Given the description of an element on the screen output the (x, y) to click on. 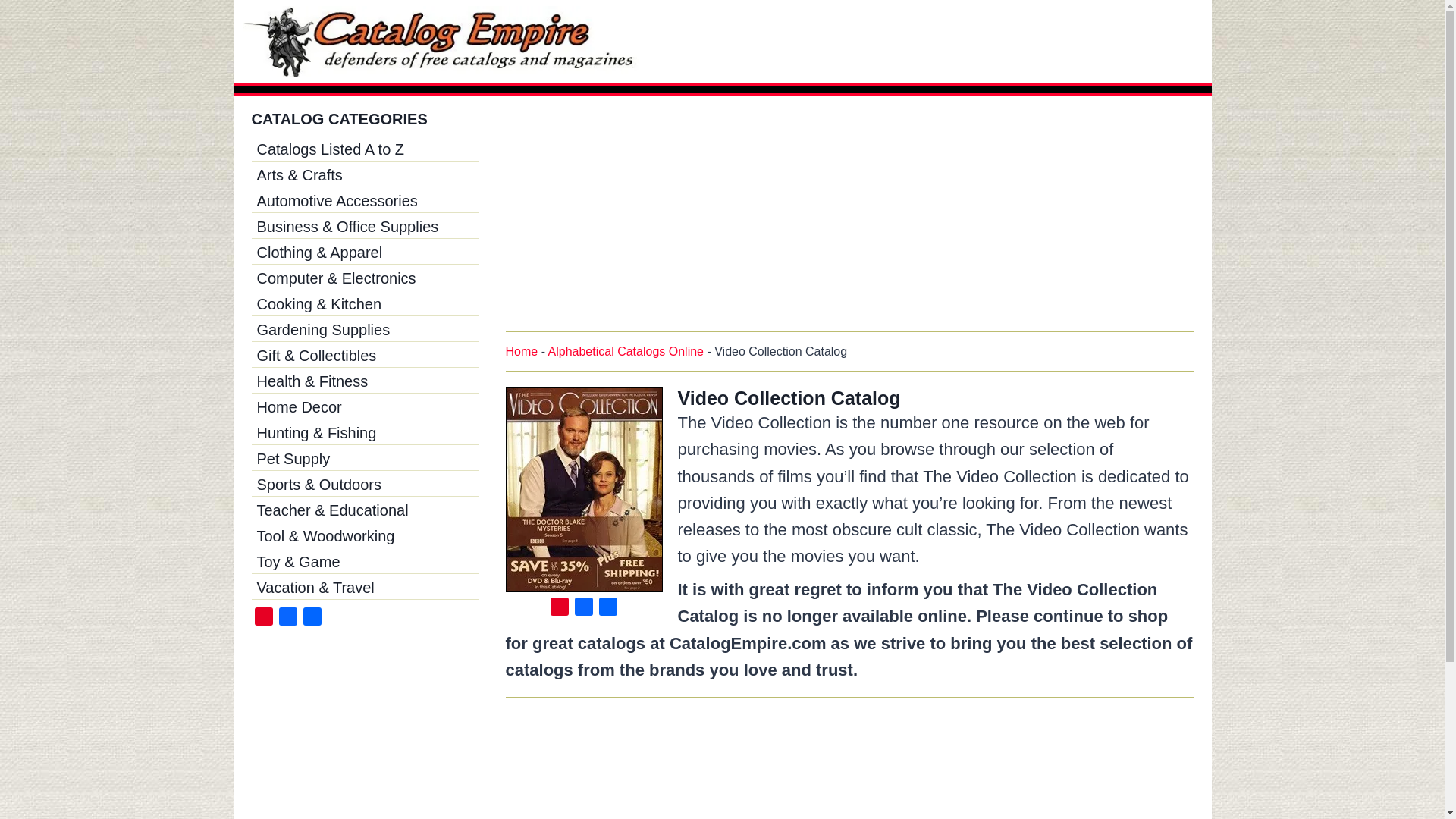
Pinterest (263, 618)
Alphabetical Catalogs Online (625, 350)
Share (607, 608)
Automotive Accessories (365, 200)
Pinterest (559, 608)
Pinterest (263, 618)
Home (521, 350)
Facebook (287, 618)
Share (311, 618)
